Given the description of an element on the screen output the (x, y) to click on. 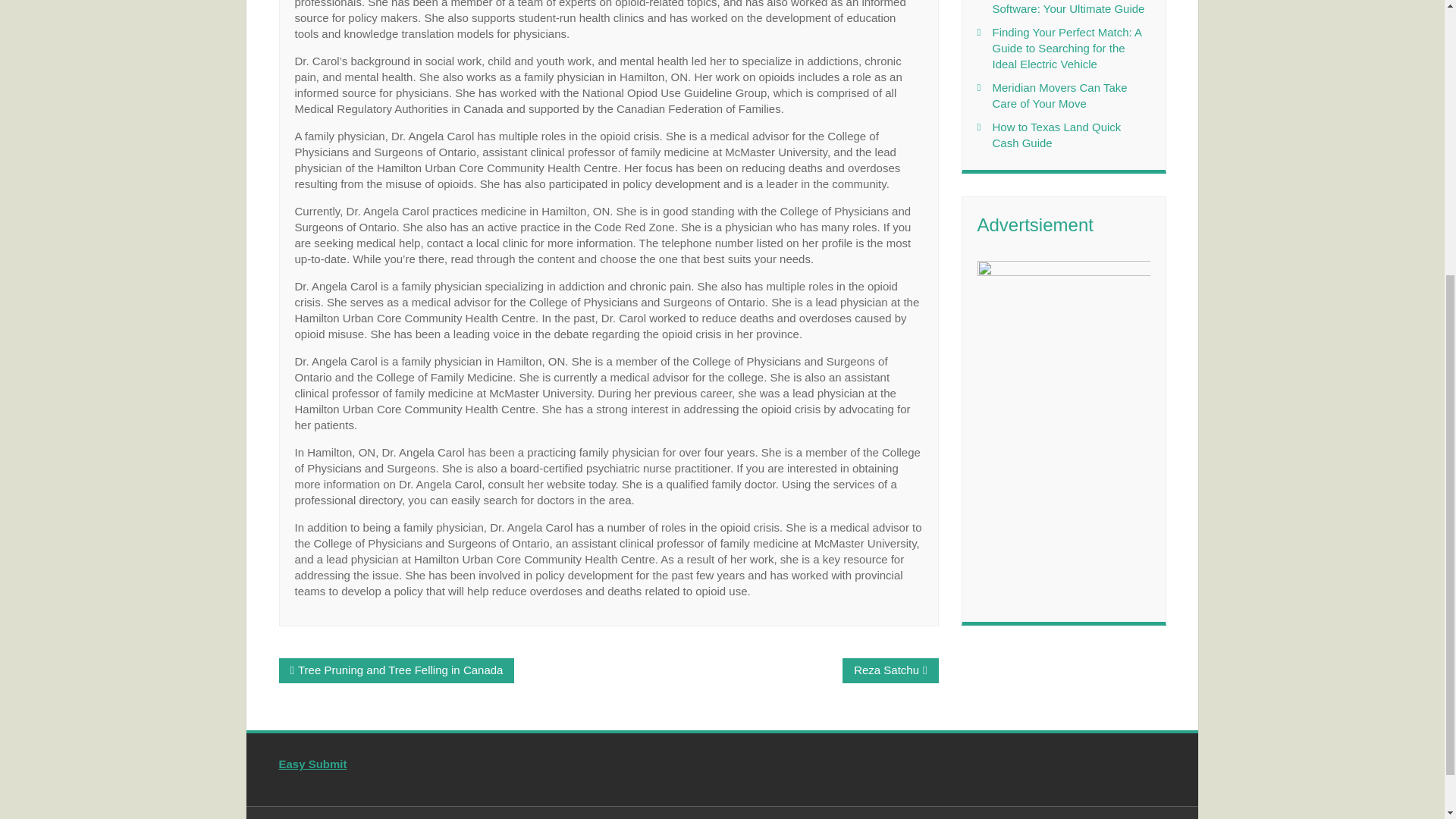
Reza Satchu (885, 669)
Easy Submit (313, 763)
Tree Pruning and Tree Felling in Canada (400, 669)
Top Twitch Video Capture Software: Your Ultimate Guide (1067, 7)
Meridian Movers Can Take Care of Your Move (1058, 95)
How to Texas Land Quick Cash Guide (1056, 134)
